Given the description of an element on the screen output the (x, y) to click on. 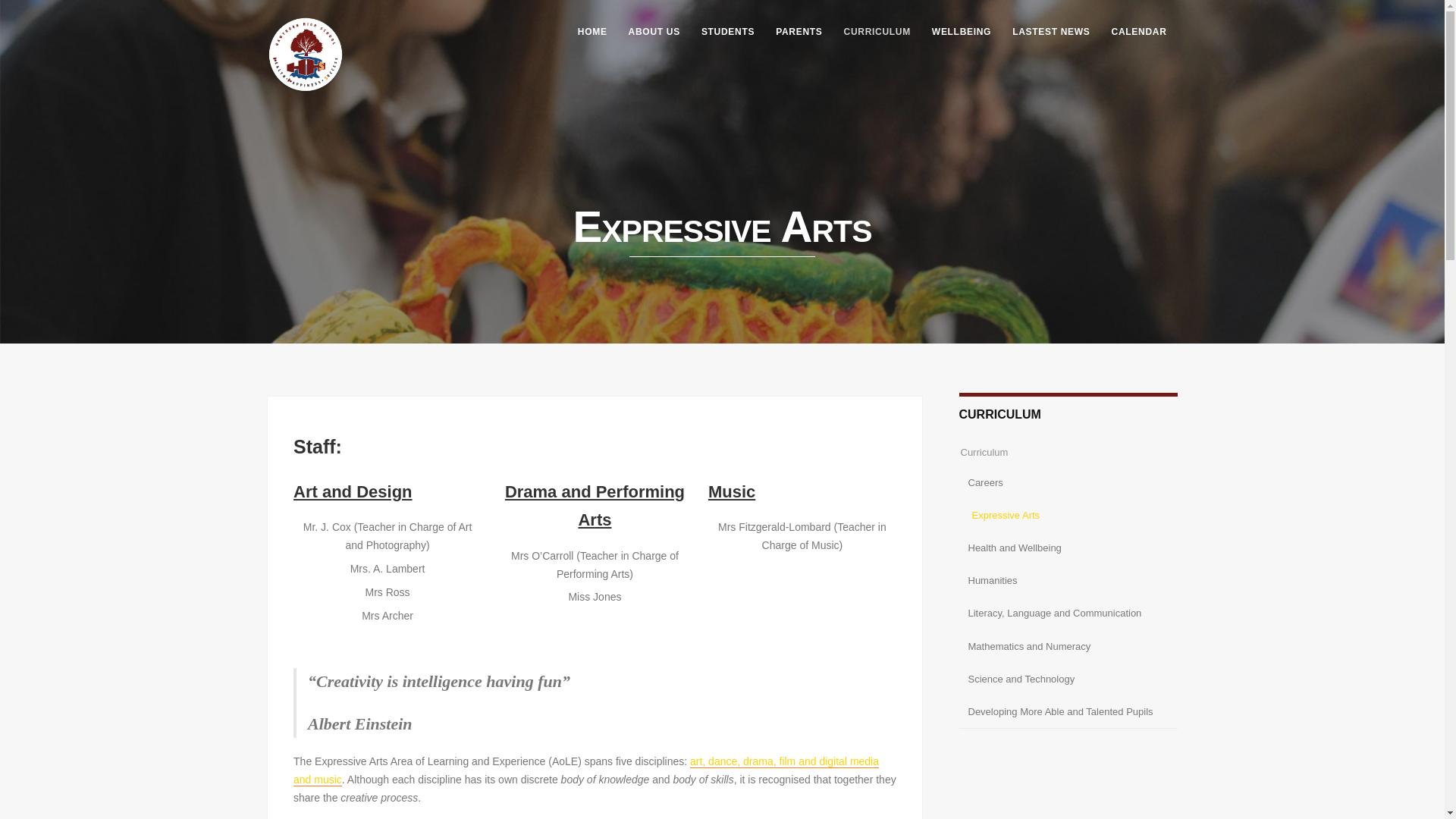
CURRICULUM (876, 31)
ABOUT US (653, 31)
STUDENTS (727, 31)
PARENTS (798, 31)
HOME (592, 31)
